Given the description of an element on the screen output the (x, y) to click on. 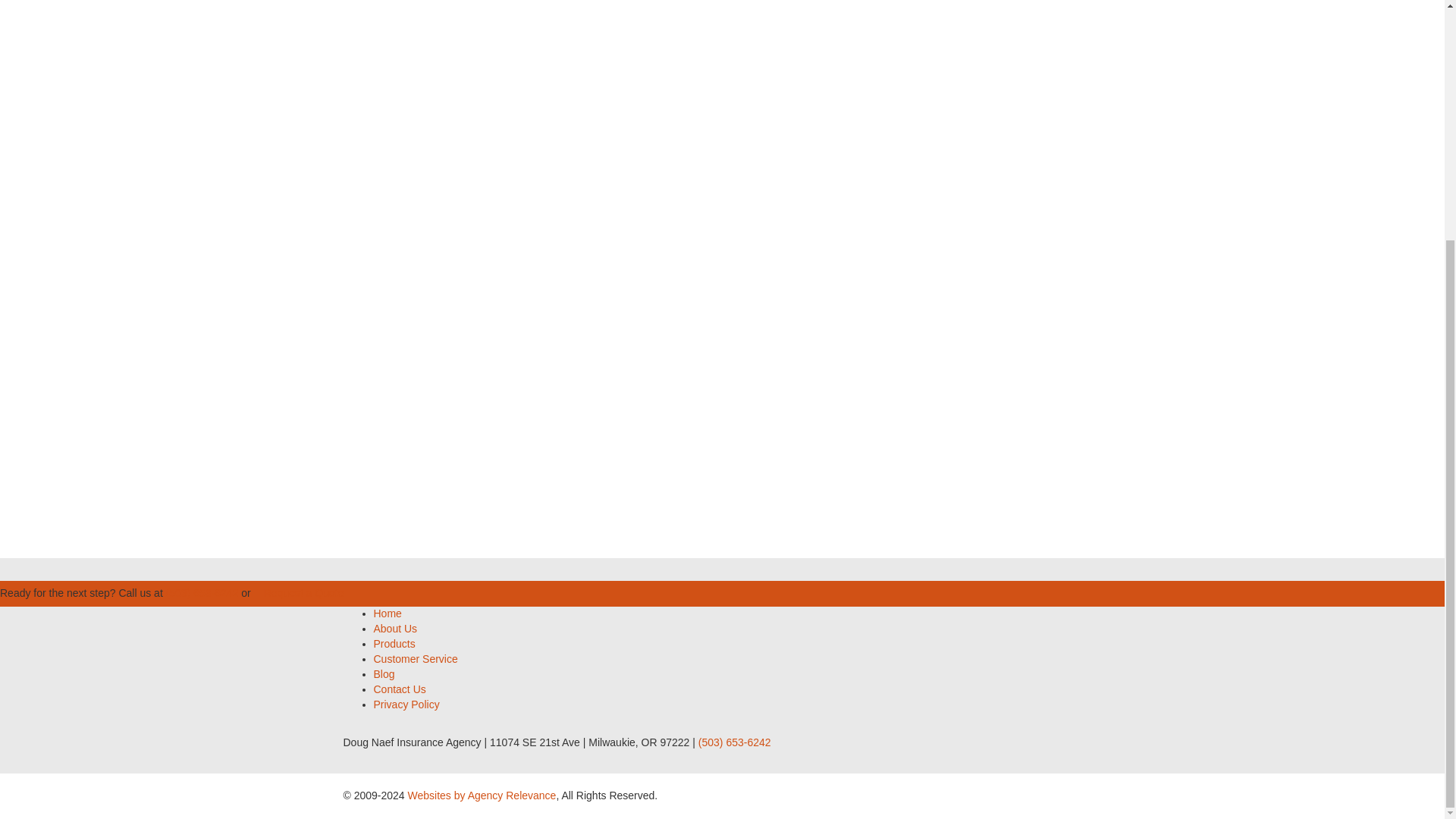
503-653-6242 (406, 455)
Home (386, 613)
Customer Service (414, 658)
Products (393, 644)
503-653-6242 (1054, 348)
Contact Us (398, 689)
Request a Quote (303, 593)
About Us (394, 628)
Websites by Agency Relevance (481, 795)
Blog (383, 674)
